Given the description of an element on the screen output the (x, y) to click on. 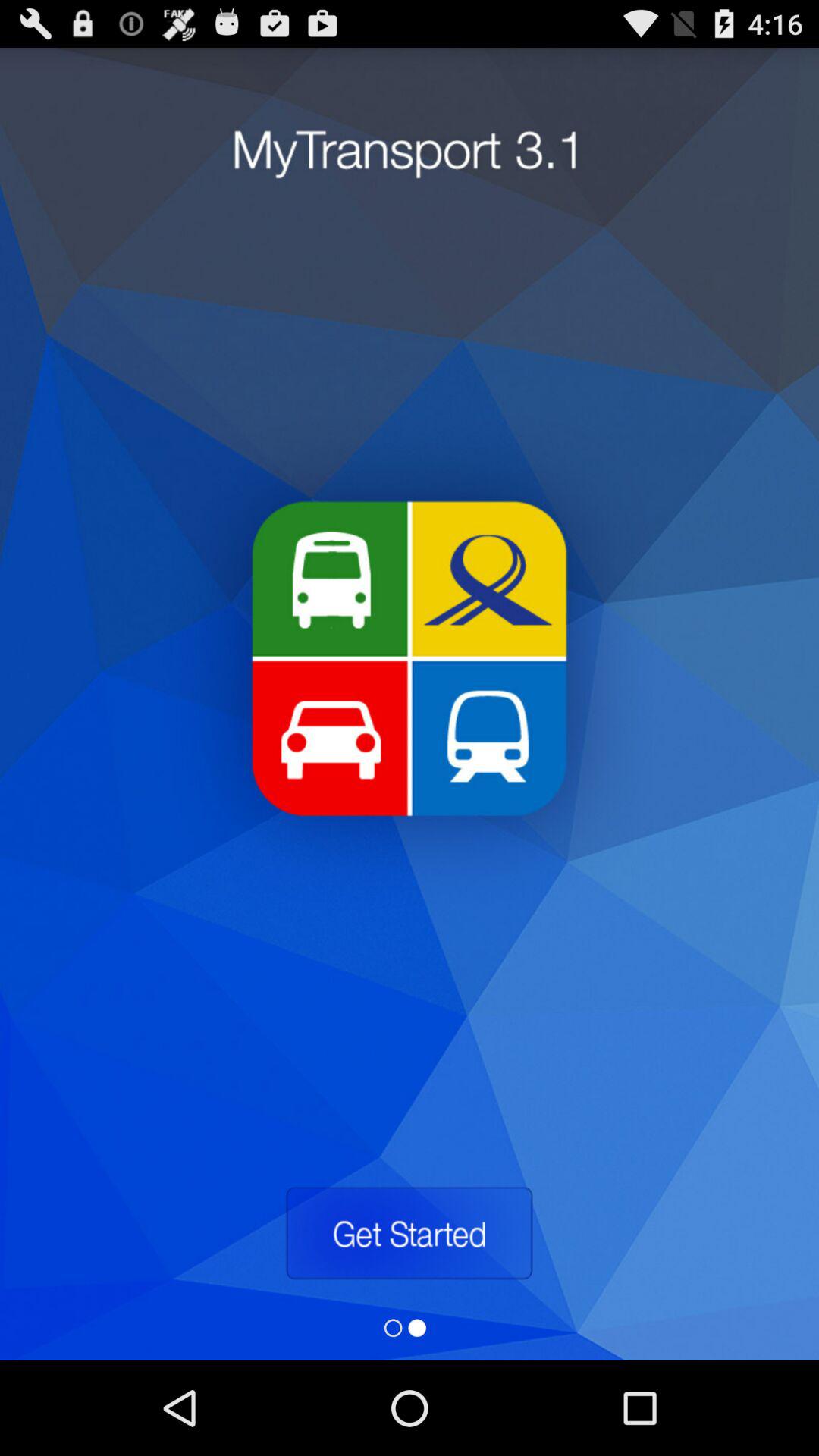
start (408, 1232)
